Given the description of an element on the screen output the (x, y) to click on. 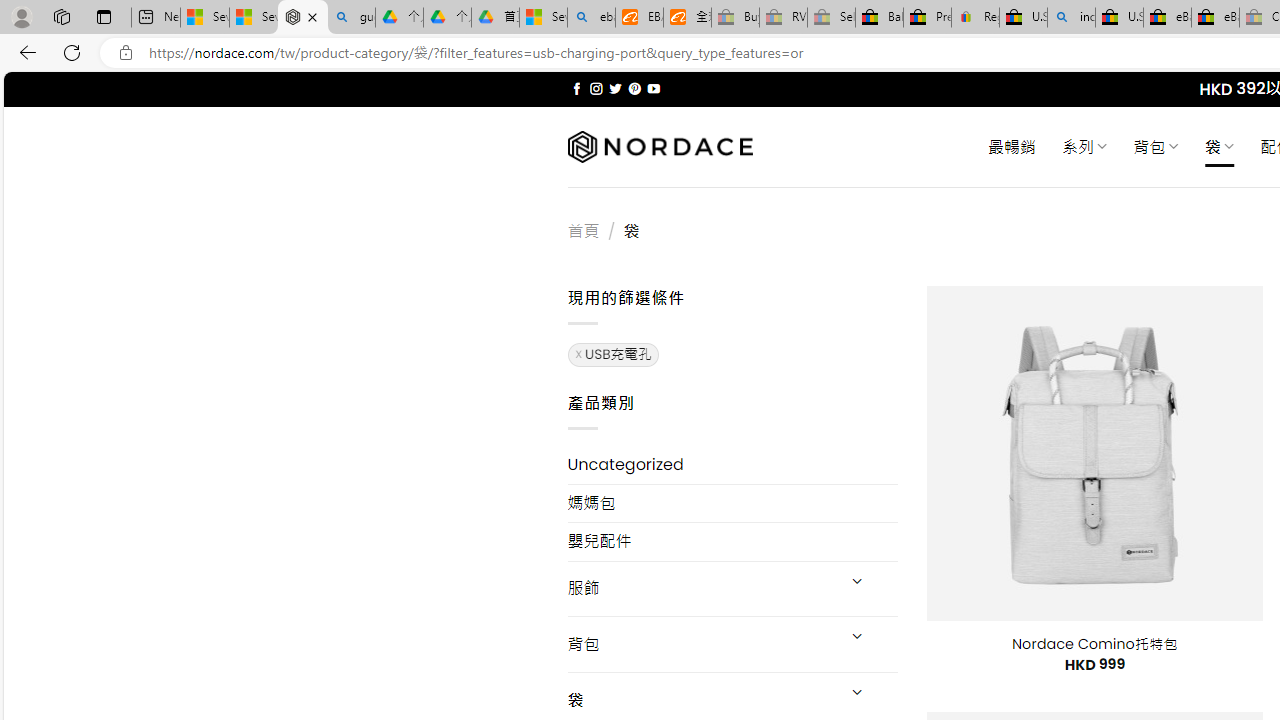
guge yunpan - Search (351, 17)
Follow on Twitter (615, 88)
Uncategorized (732, 463)
Follow on Instagram (596, 88)
Register: Create a personal eBay account (975, 17)
